Given the description of an element on the screen output the (x, y) to click on. 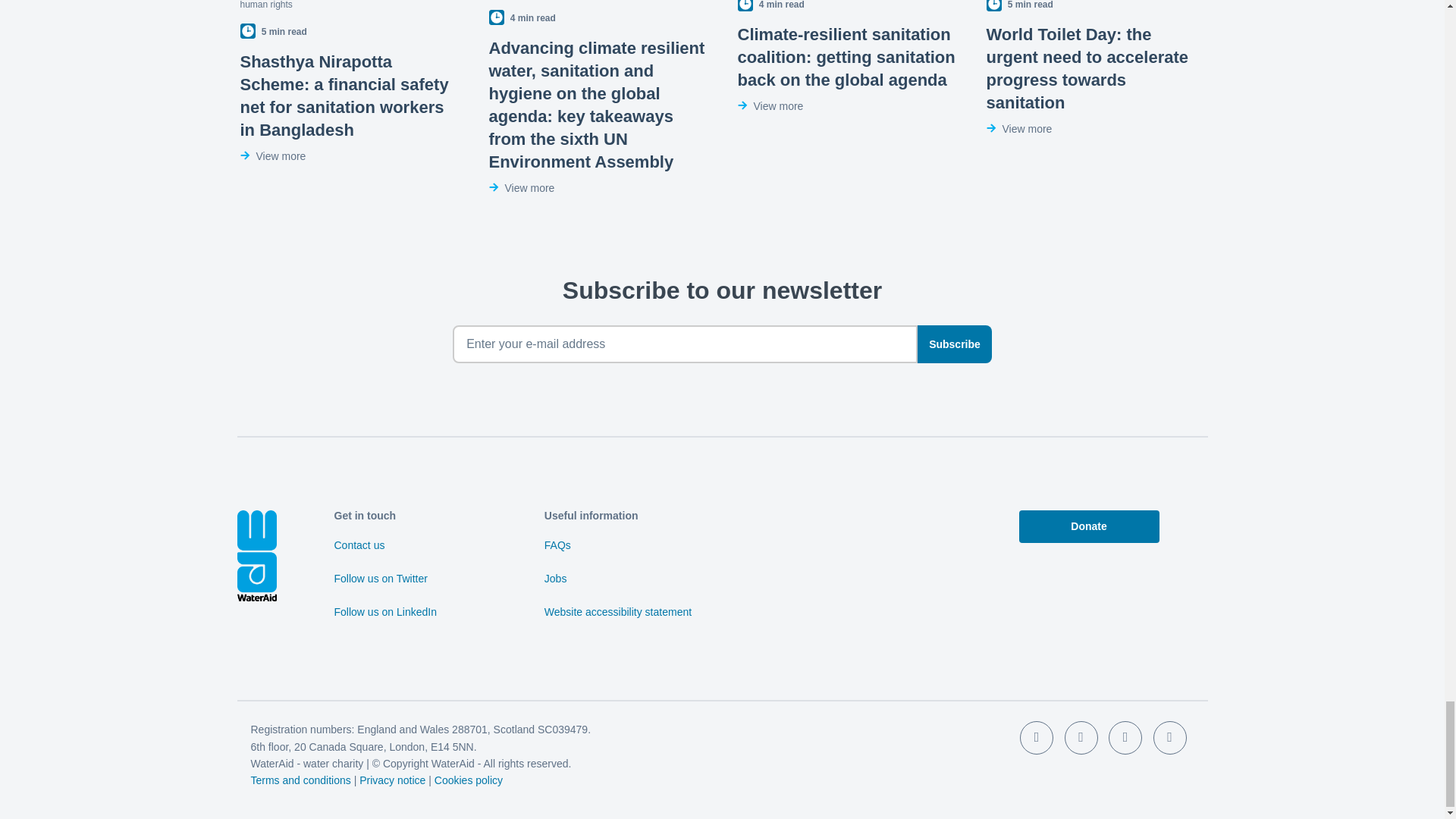
Subscribe (954, 344)
Subscribe (954, 344)
Follow us on Twitter (379, 582)
Follow us on LinkedIn (384, 616)
Contact us (358, 549)
